Given the description of an element on the screen output the (x, y) to click on. 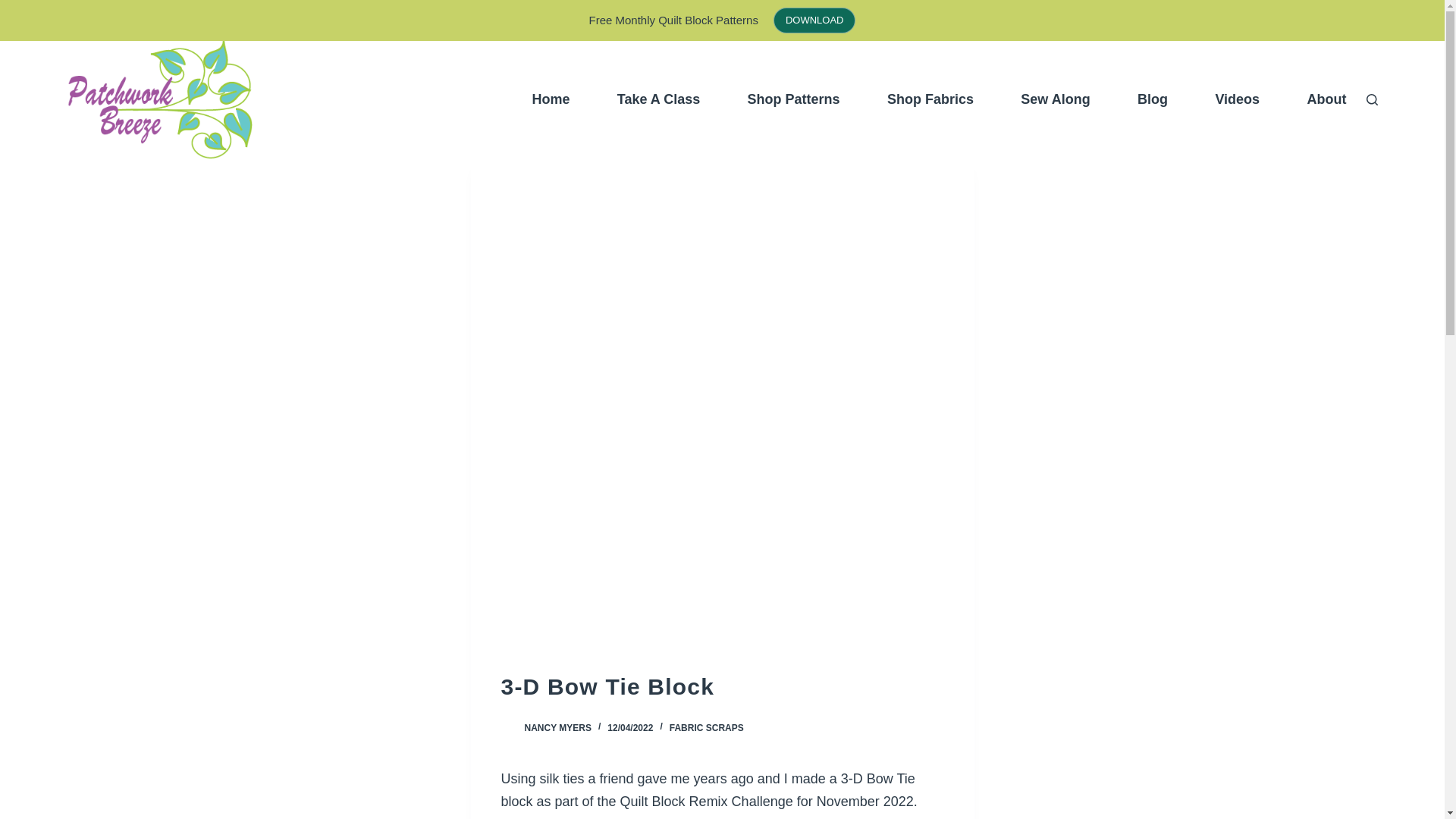
DOWNLOAD (814, 20)
FABRIC SCRAPS (706, 727)
Skip to content (15, 7)
NANCY MYERS (557, 727)
3-D Bow Tie Block (721, 686)
Posts by Nancy Myers (557, 727)
